Given the description of an element on the screen output the (x, y) to click on. 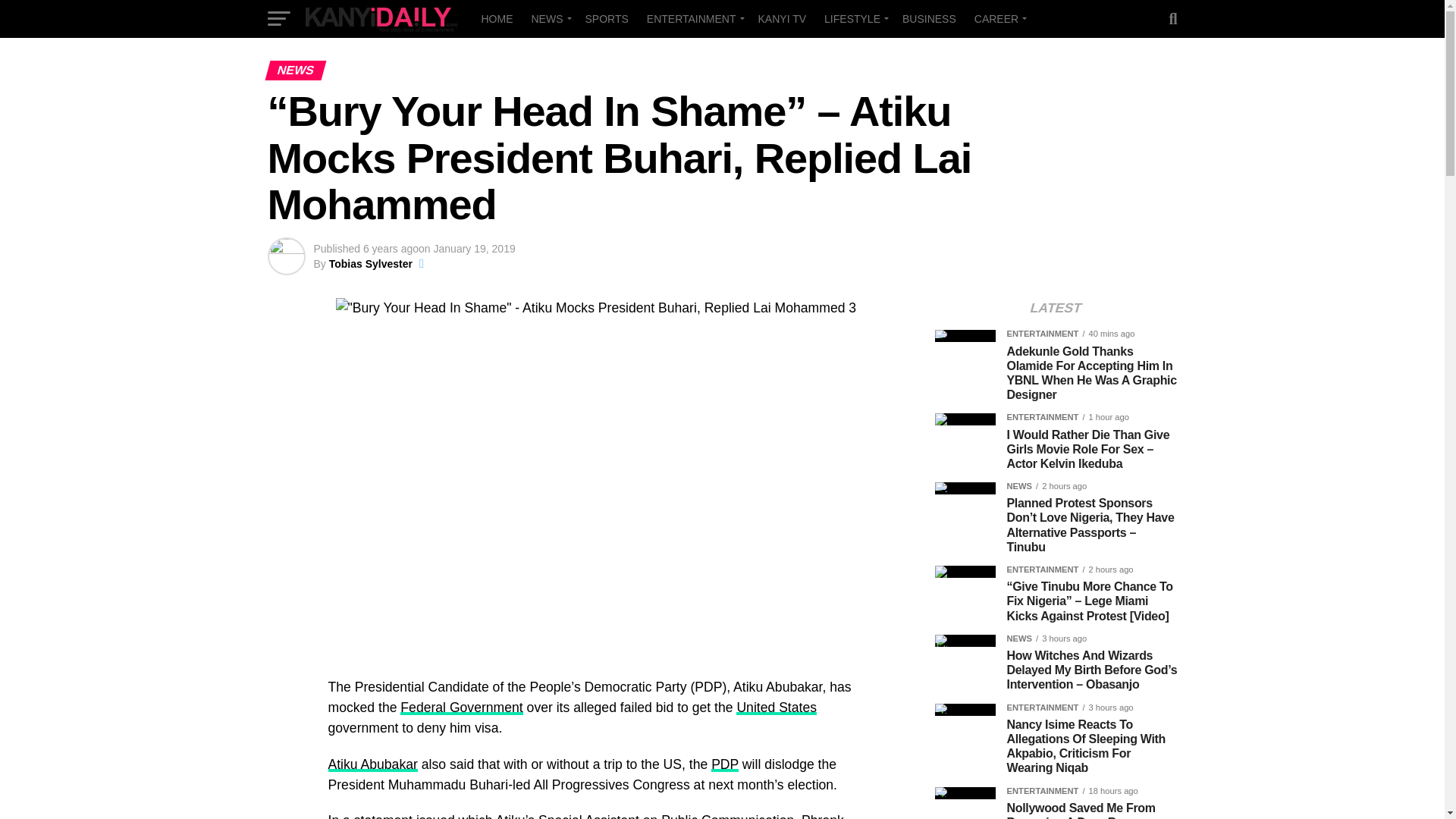
Posts by Tobias Sylvester (370, 263)
